Given the description of an element on the screen output the (x, y) to click on. 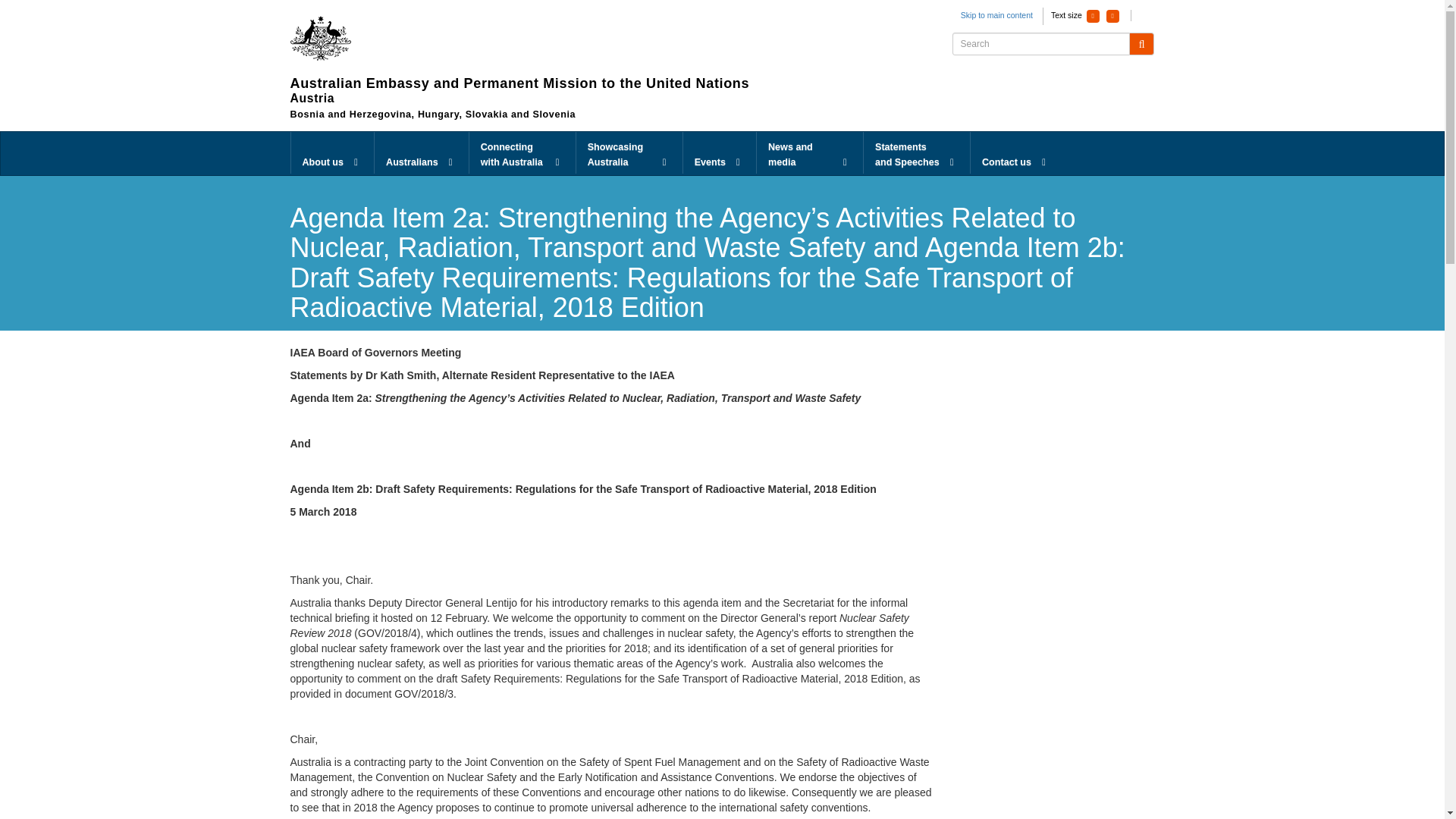
Showcasing Australia   (629, 153)
Skip to main content (996, 14)
Increase text size. (1112, 15)
Australians   (421, 153)
Reduce text size. (1092, 15)
News and media   (810, 153)
Events   (718, 153)
About us   (332, 153)
Statements and Speeches   (916, 153)
Connecting with Australia   (521, 153)
